Given the description of an element on the screen output the (x, y) to click on. 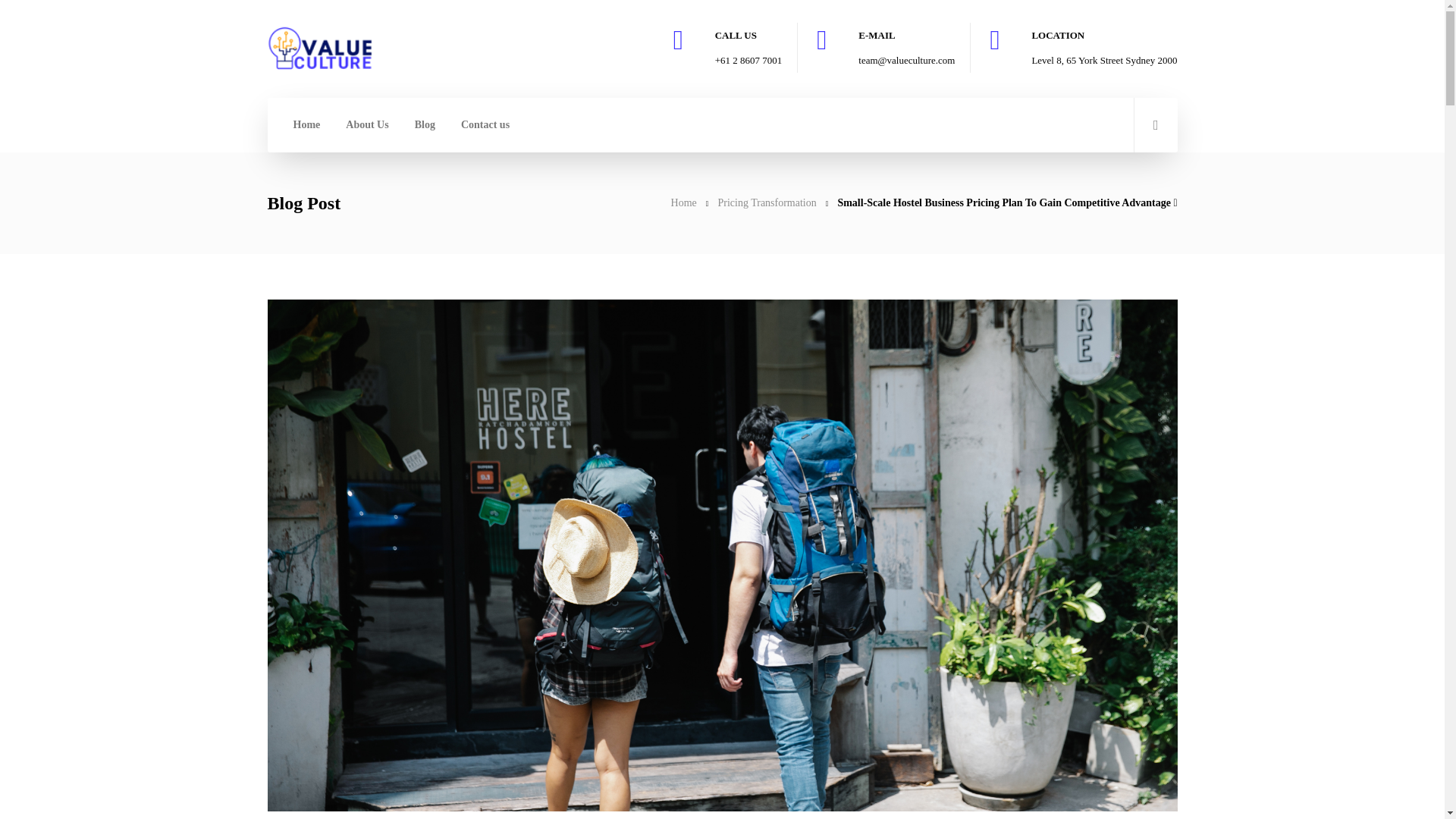
Home (684, 202)
Home (684, 202)
Pricing Transformation (766, 202)
